Given the description of an element on the screen output the (x, y) to click on. 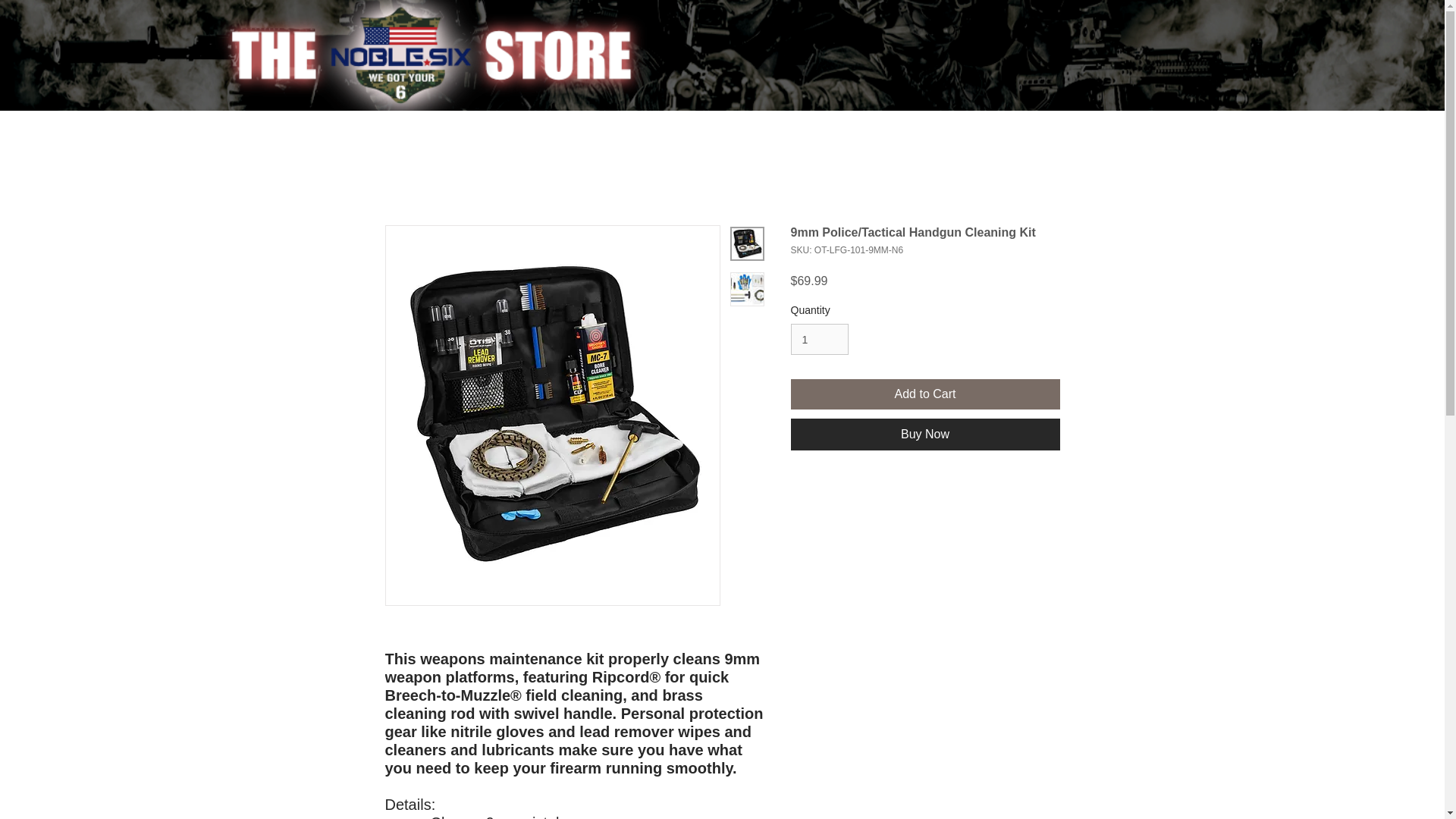
Buy Now (924, 434)
Add to Cart (924, 394)
1 (818, 338)
